Given the description of an element on the screen output the (x, y) to click on. 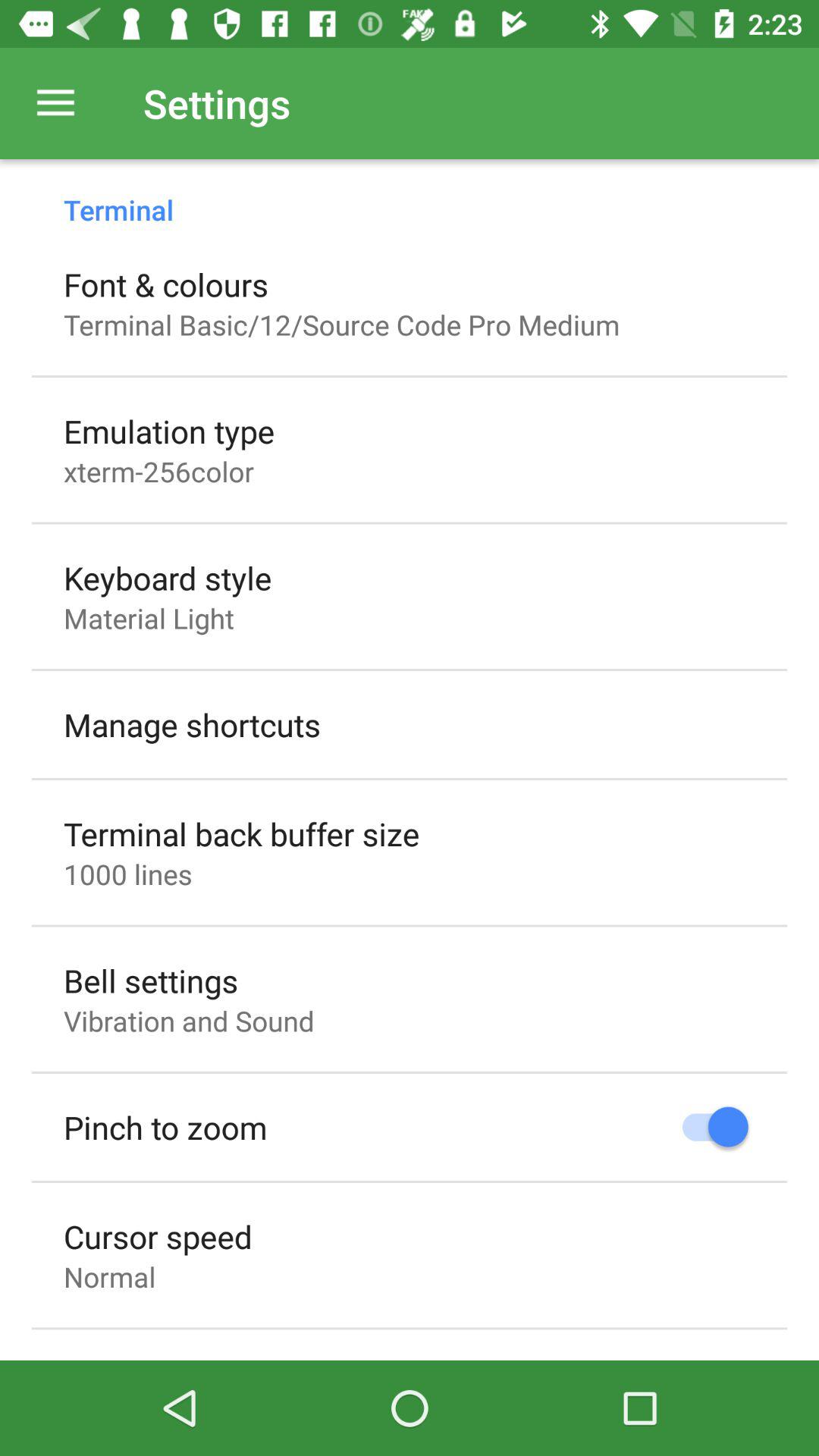
choose the icon above 1000 lines icon (241, 833)
